Given the description of an element on the screen output the (x, y) to click on. 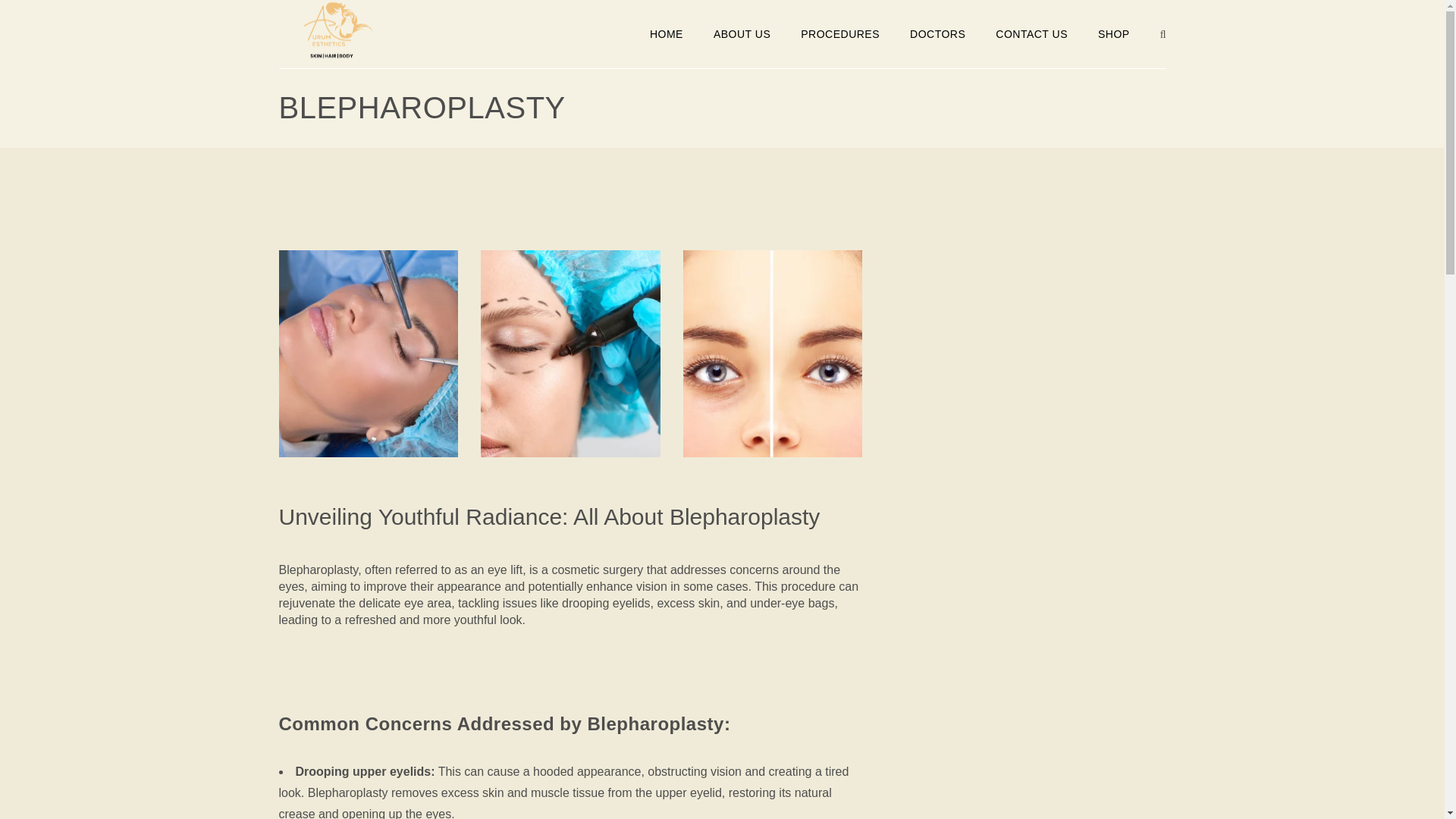
PROCEDURES (840, 33)
DOCTORS (937, 33)
Go (1147, 9)
ABOUT US (742, 33)
SHOP (1113, 33)
CONTACT US (1031, 33)
HOME (666, 33)
Aurum Aesthetics (337, 31)
